Given the description of an element on the screen output the (x, y) to click on. 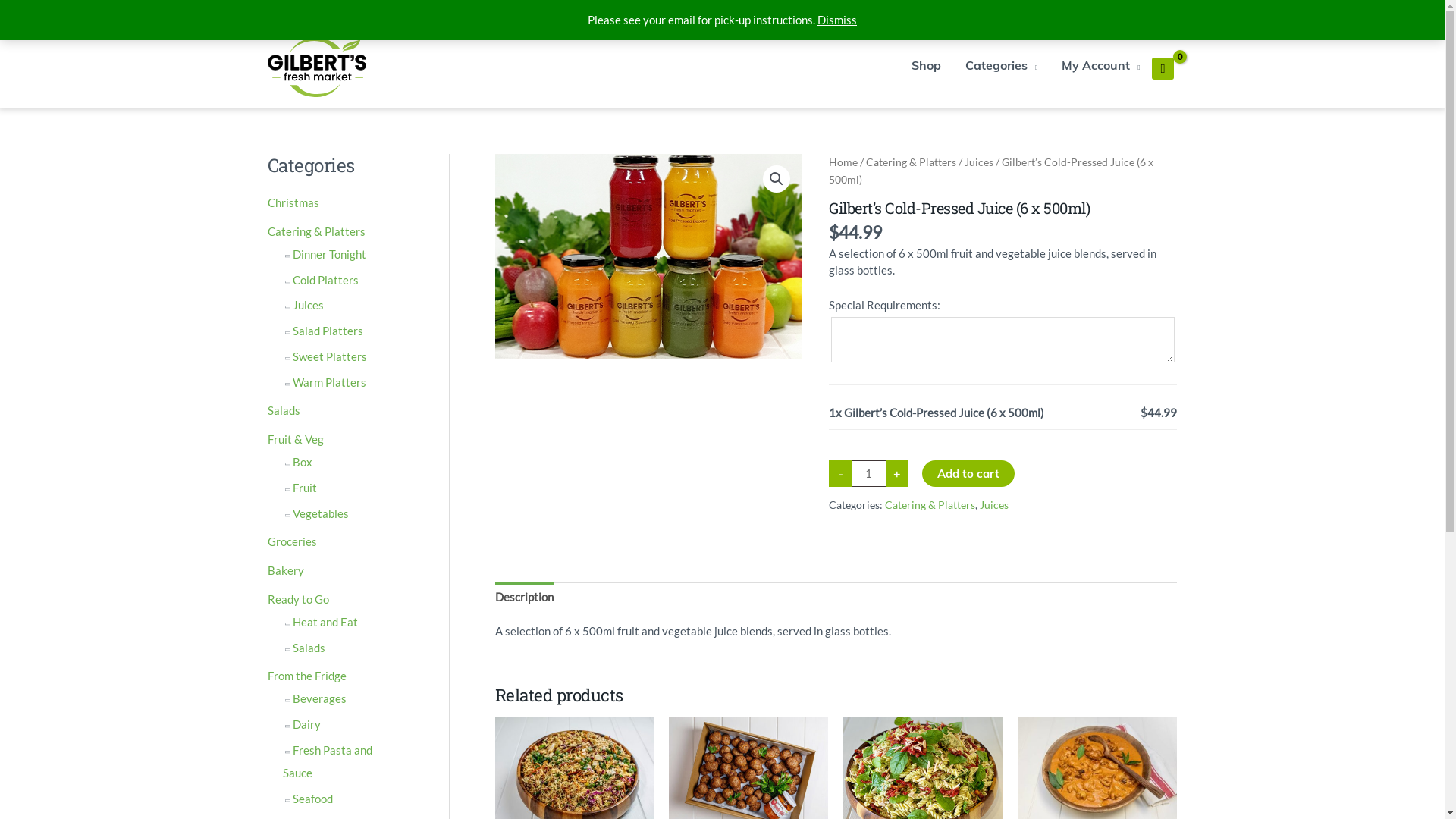
Dinner Tonight Element type: text (329, 253)
Back to Gilbert's Fresh Markets Element type: text (419, 12)
Cold Platters Element type: text (325, 279)
Warm Platters Element type: text (329, 382)
Salad Platters Element type: text (327, 330)
Fresh Pasta and Sauce Element type: text (327, 761)
Qty Element type: hover (868, 473)
Dismiss Element type: text (836, 19)
Christmas Element type: text (292, 202)
(08) 9250 5222 Element type: text (1089, 12)
Fruit Element type: text (304, 487)
Categories Element type: text (1001, 64)
Juices Element type: text (307, 304)
Catering & Platters Element type: text (315, 231)
Heat and Eat Element type: text (324, 621)
Juices Element type: text (993, 504)
Description Element type: text (523, 596)
Box Element type: text (302, 461)
Add to cart Element type: text (968, 473)
My Account Element type: text (1100, 64)
Fruit & Veg Element type: text (294, 438)
Groceries Element type: text (291, 541)
Ready to Go Element type: text (297, 598)
- Element type: text (839, 473)
From the Fridge Element type: text (305, 675)
Vegetables Element type: text (320, 513)
Seafood Element type: text (312, 798)
Dairy Element type: text (306, 724)
Home Element type: text (842, 161)
Beverages Element type: text (319, 698)
Sweet Platters Element type: text (329, 356)
+ Element type: text (896, 473)
Catering & Platters Element type: text (911, 161)
Bakery Element type: text (284, 570)
Shop Element type: text (926, 64)
Salads Element type: text (308, 647)
Salads Element type: text (282, 410)
Juices Element type: text (978, 161)
juice 2 Element type: hover (647, 255)
Catering & Platters Element type: text (929, 504)
